Given the description of an element on the screen output the (x, y) to click on. 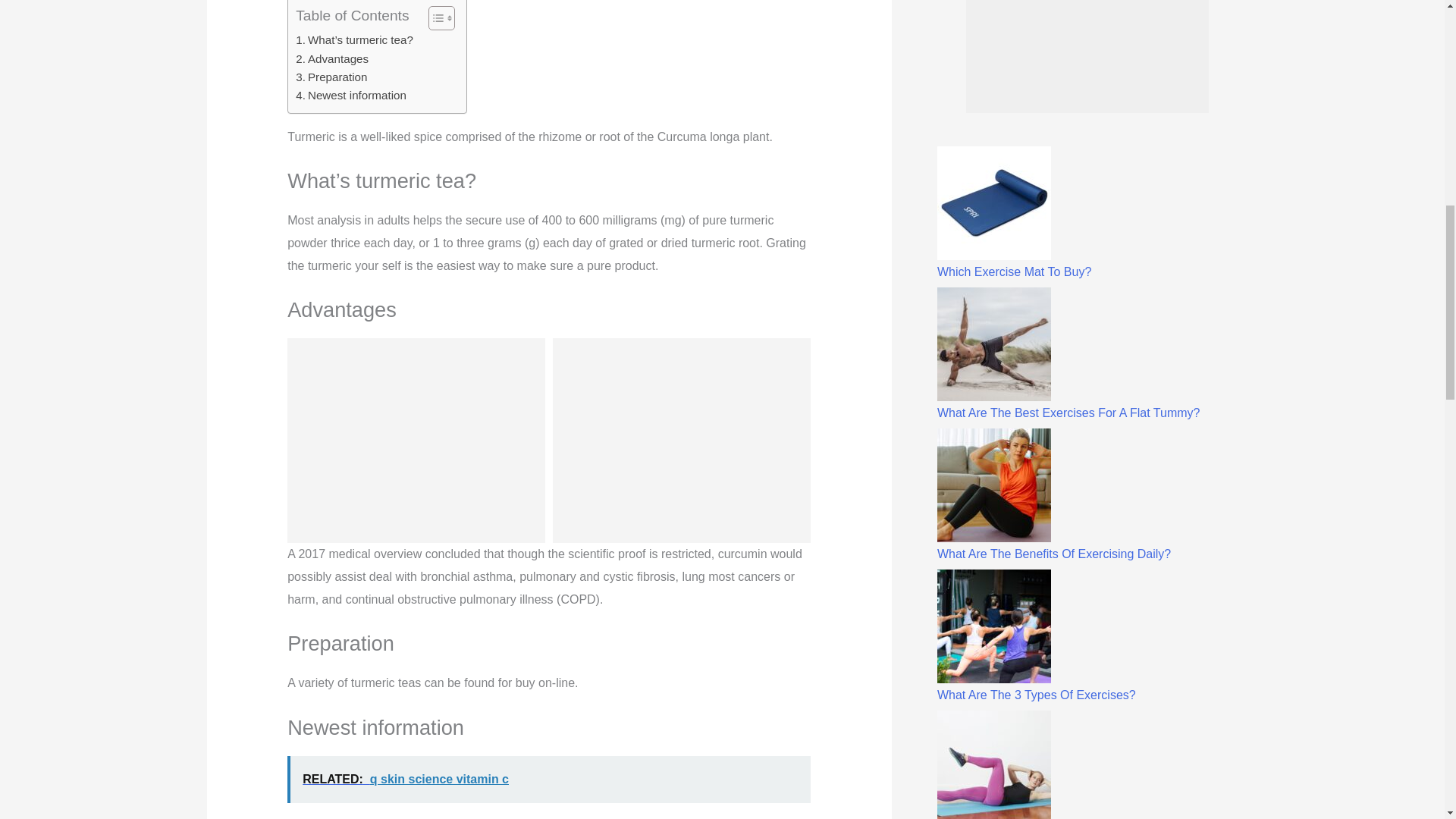
Preparation (330, 76)
What Are The 3 Types Of Exercises? 6 (994, 626)
RELATED:  q skin science vitamin c (548, 779)
What Are Some Abdominal Exercises? 7 (994, 764)
Preparation (330, 76)
Advantages (331, 58)
Newest information (350, 95)
Which Exercise Mat To Buy? 3 (994, 203)
Advantages (331, 58)
Newest information (350, 95)
What Are The Best Exercises For A Flat Tummy? 4 (994, 344)
What Are The Benefits Of Exercising Daily? 5 (994, 485)
